Given the description of an element on the screen output the (x, y) to click on. 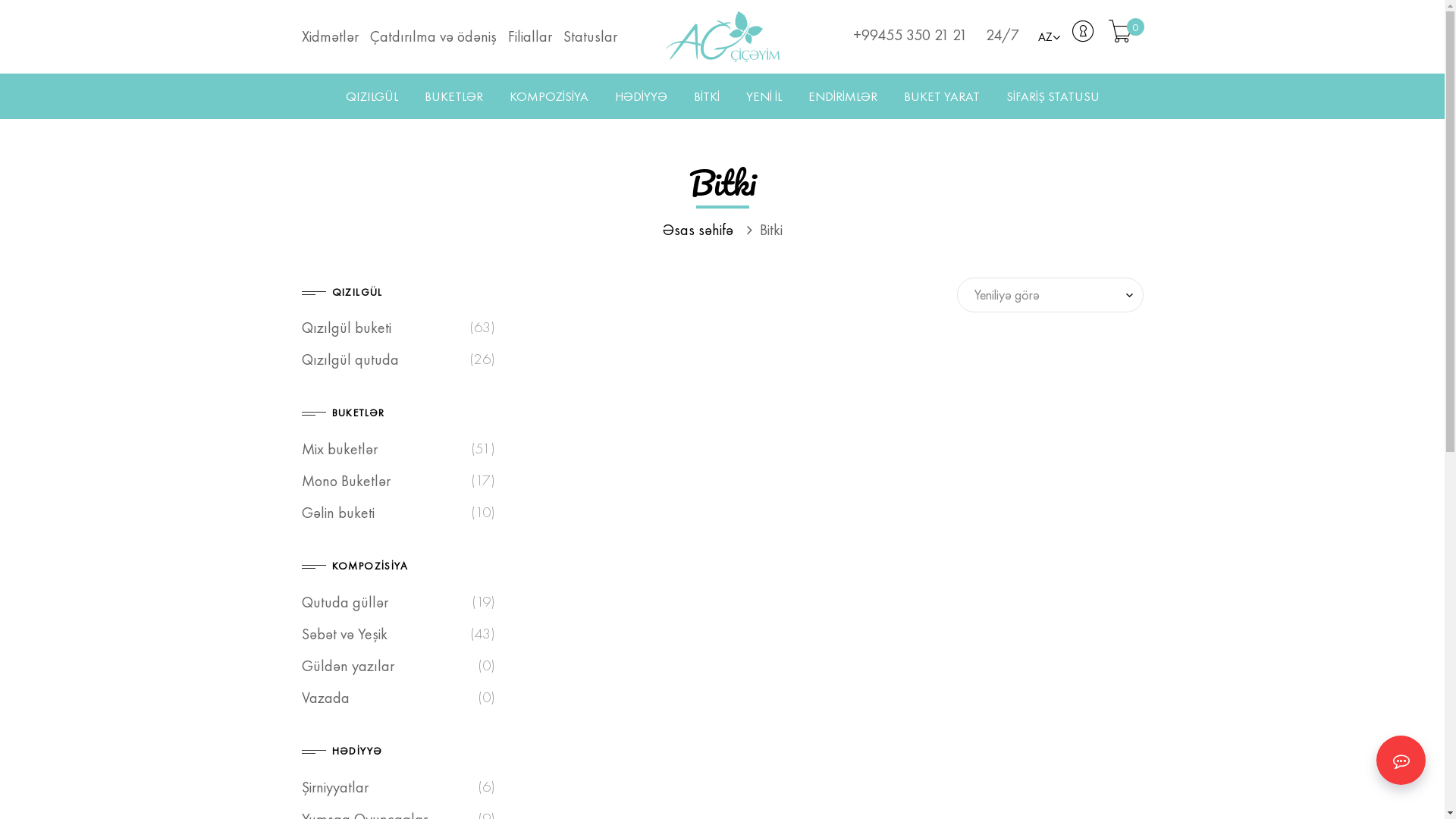
BITKI Element type: text (705, 96)
YENI IL Element type: text (763, 96)
Filiallar Element type: text (535, 36)
AZ Element type: text (1048, 36)
Vazada Element type: text (325, 697)
KOMPOZISIYA Element type: text (548, 96)
0 Element type: text (1120, 36)
Statuslar Element type: text (593, 36)
BUKET YARAT Element type: text (941, 96)
